Given the description of an element on the screen output the (x, y) to click on. 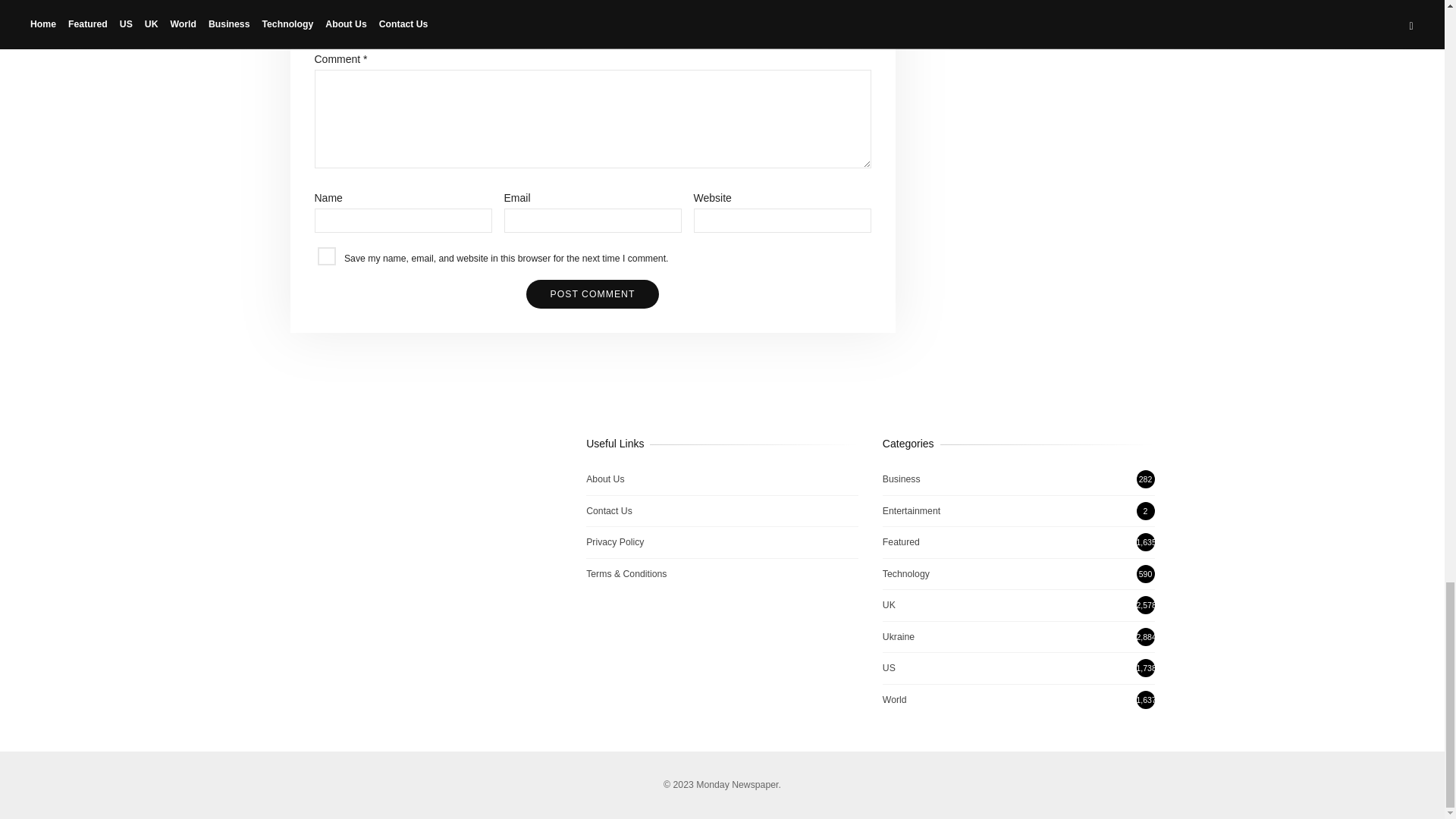
Post Comment (592, 294)
yes (325, 256)
Post Comment (592, 294)
